Given the description of an element on the screen output the (x, y) to click on. 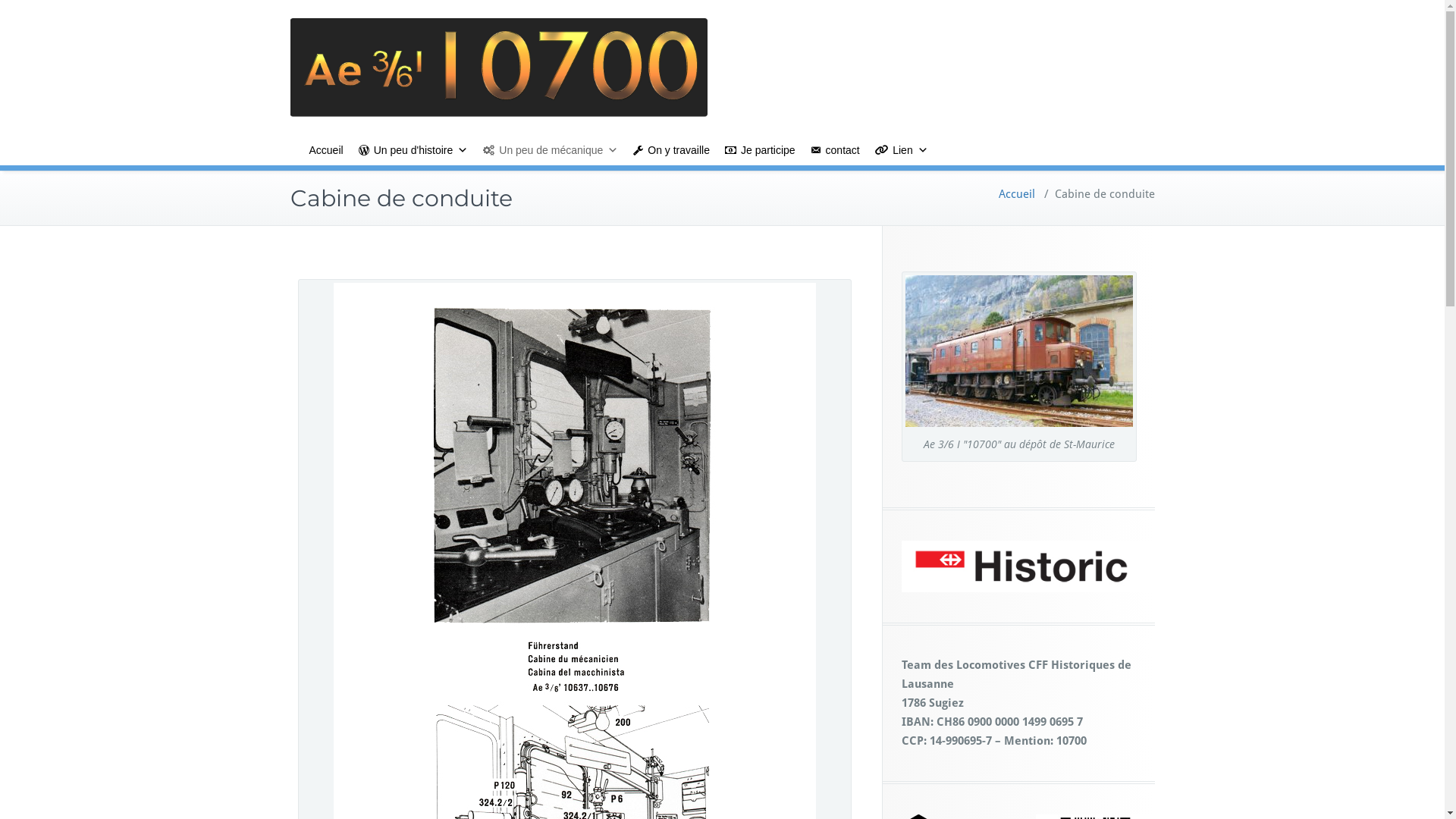
Skip to content Element type: text (0, 0)
Un peu d'histoire Element type: text (413, 149)
Je participe Element type: text (760, 149)
Lien Element type: text (901, 149)
Accueil Element type: text (326, 149)
Accueil Element type: text (1015, 193)
contact Element type: text (835, 149)
On y travaille Element type: text (671, 149)
